Given the description of an element on the screen output the (x, y) to click on. 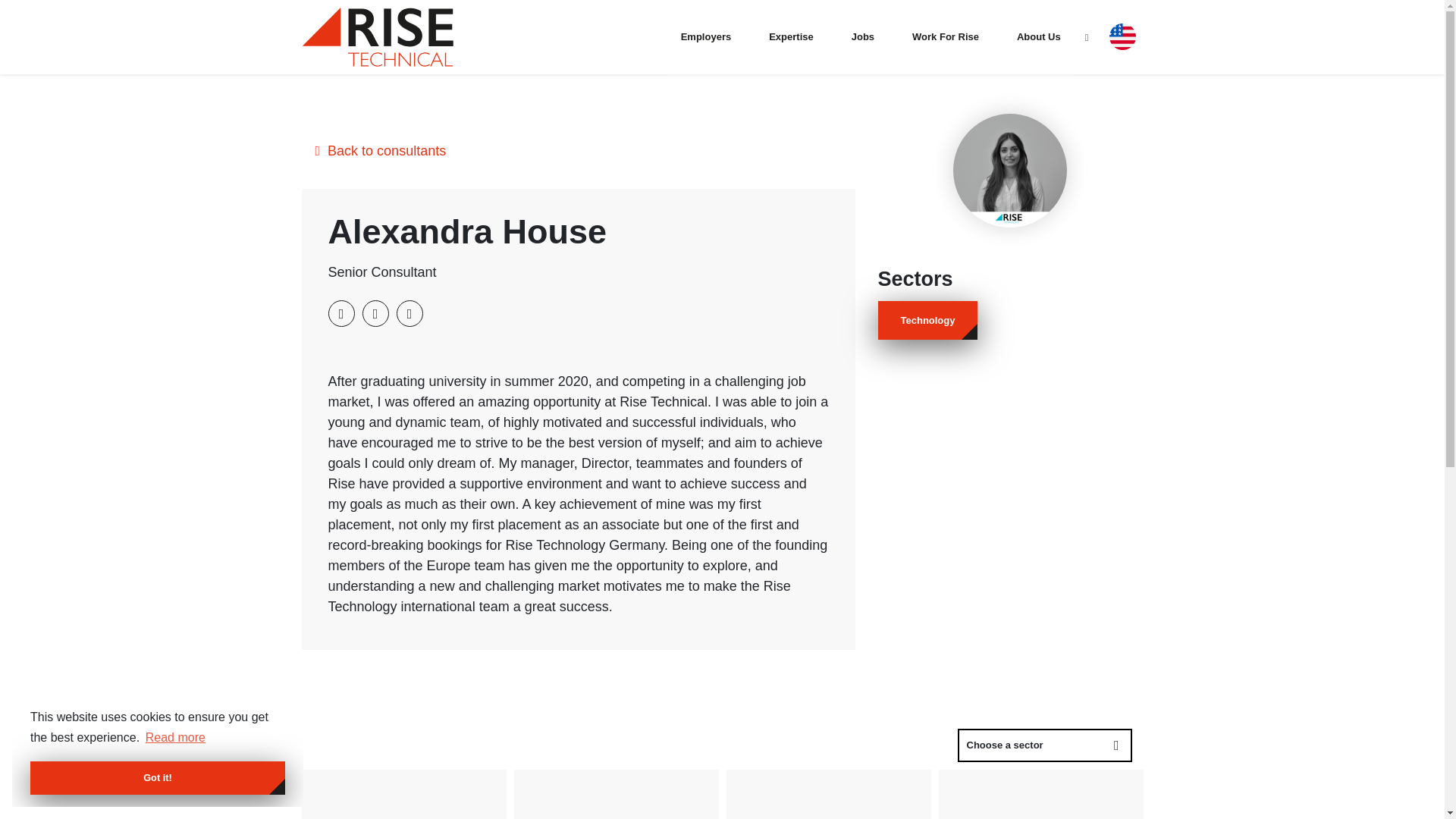
About Us (1038, 36)
Got it! (157, 777)
Rise Technical Recruitment Inc (376, 36)
Expertise (791, 36)
Jobs (862, 36)
Employers (705, 36)
Work For Rise (945, 36)
Read more (175, 737)
